Given the description of an element on the screen output the (x, y) to click on. 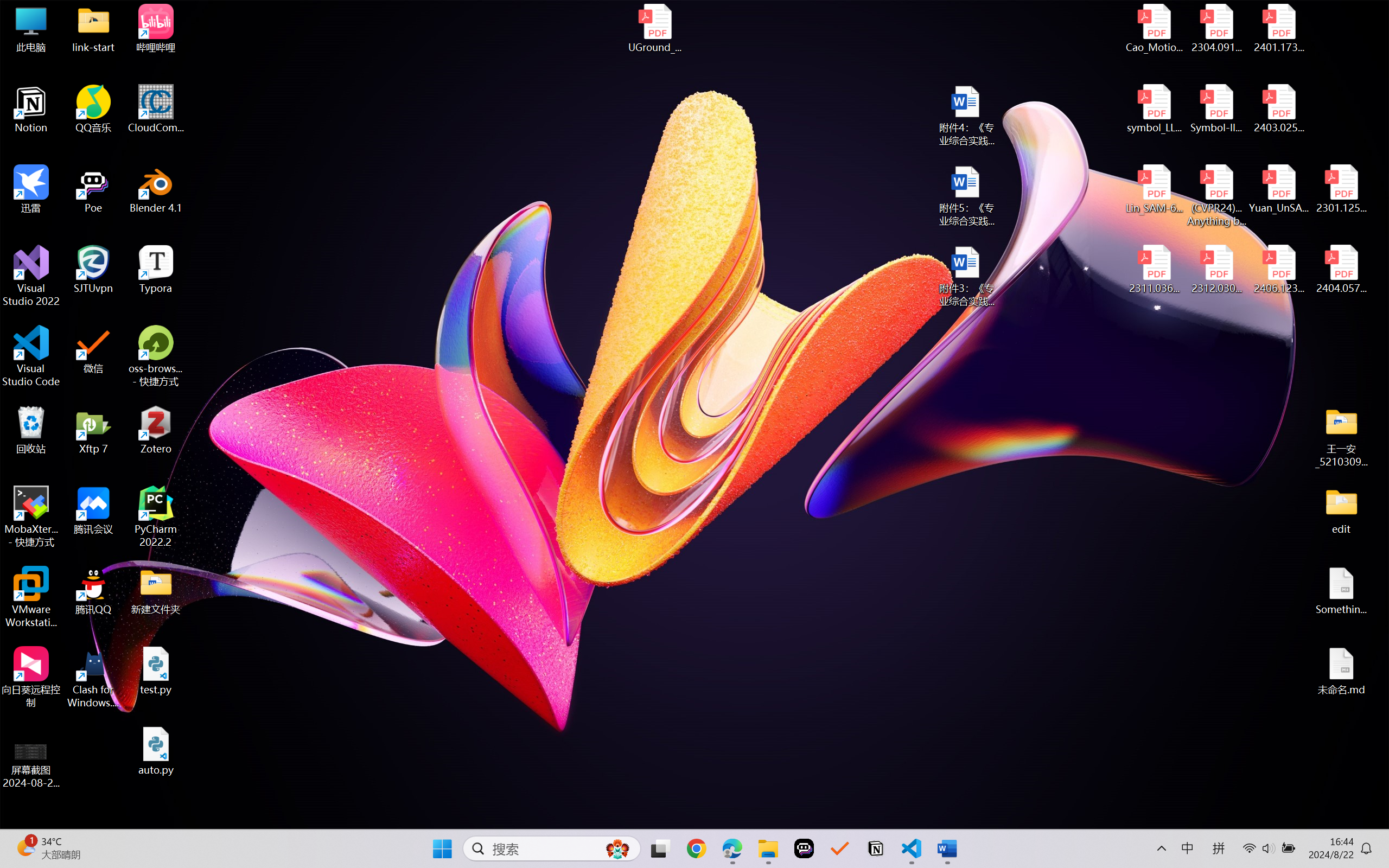
CloudCompare (156, 109)
Something.md (1340, 591)
test.py (156, 670)
Xftp 7 (93, 430)
UGround_paper.pdf (654, 28)
VMware Workstation Pro (31, 597)
2404.05719v1.pdf (1340, 269)
Symbol-llm-v2.pdf (1216, 109)
